Given the description of an element on the screen output the (x, y) to click on. 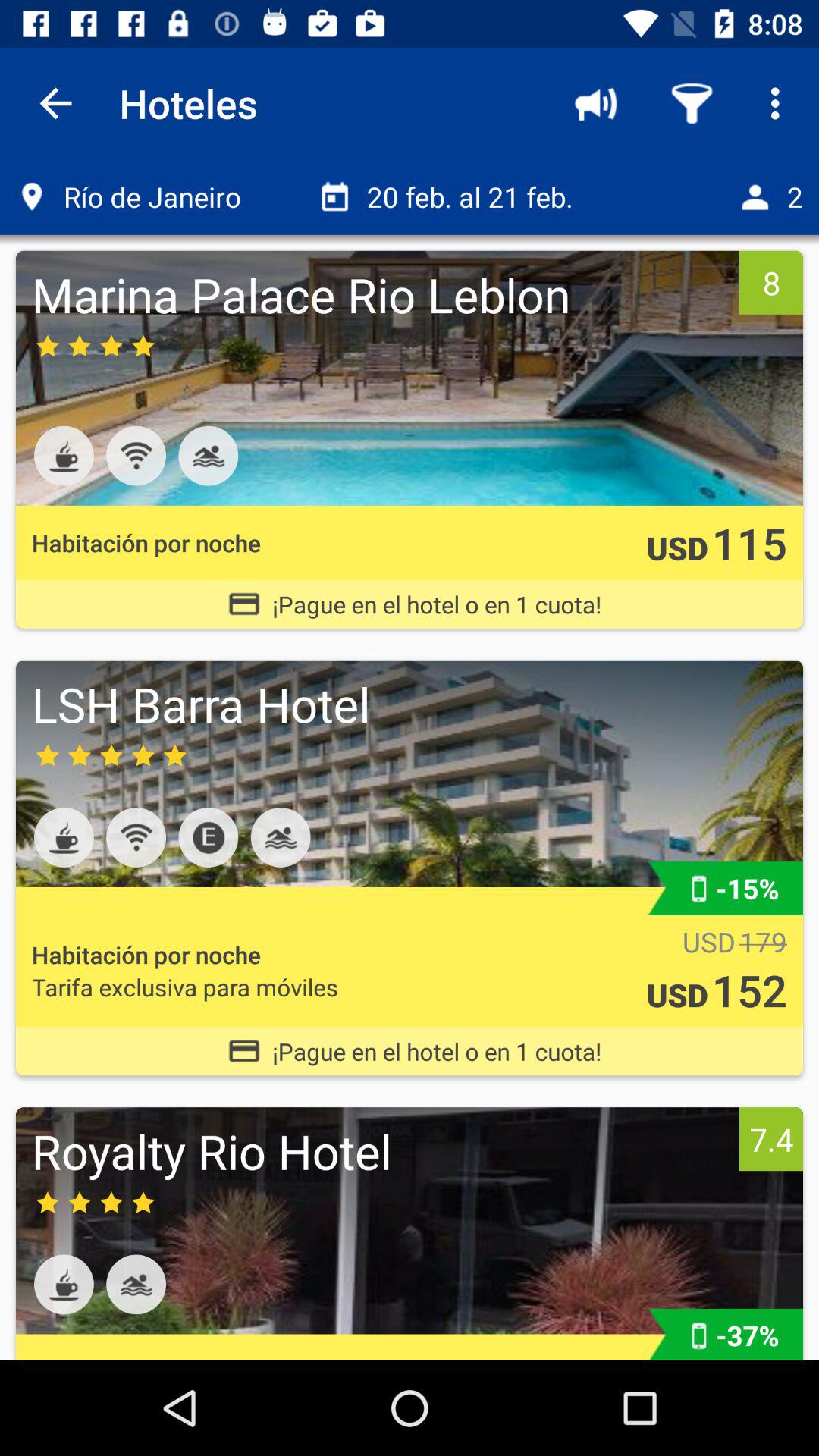
choose icon to the left of the usd (184, 986)
